Given the description of an element on the screen output the (x, y) to click on. 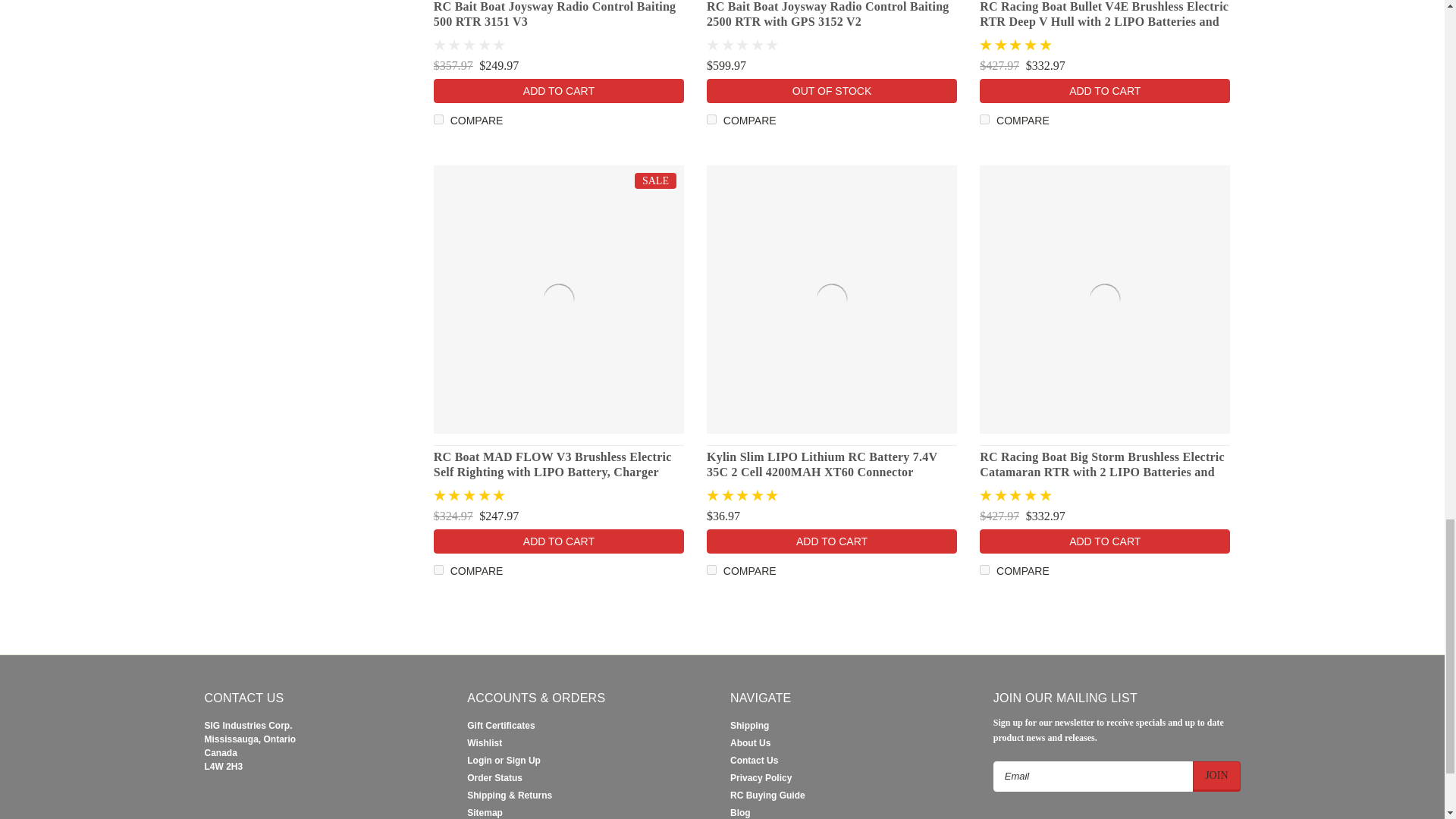
2482 (984, 569)
Join (1216, 776)
2507 (438, 569)
2938 (711, 119)
2498 (711, 569)
2666 (984, 119)
2942 (438, 119)
